Given the description of an element on the screen output the (x, y) to click on. 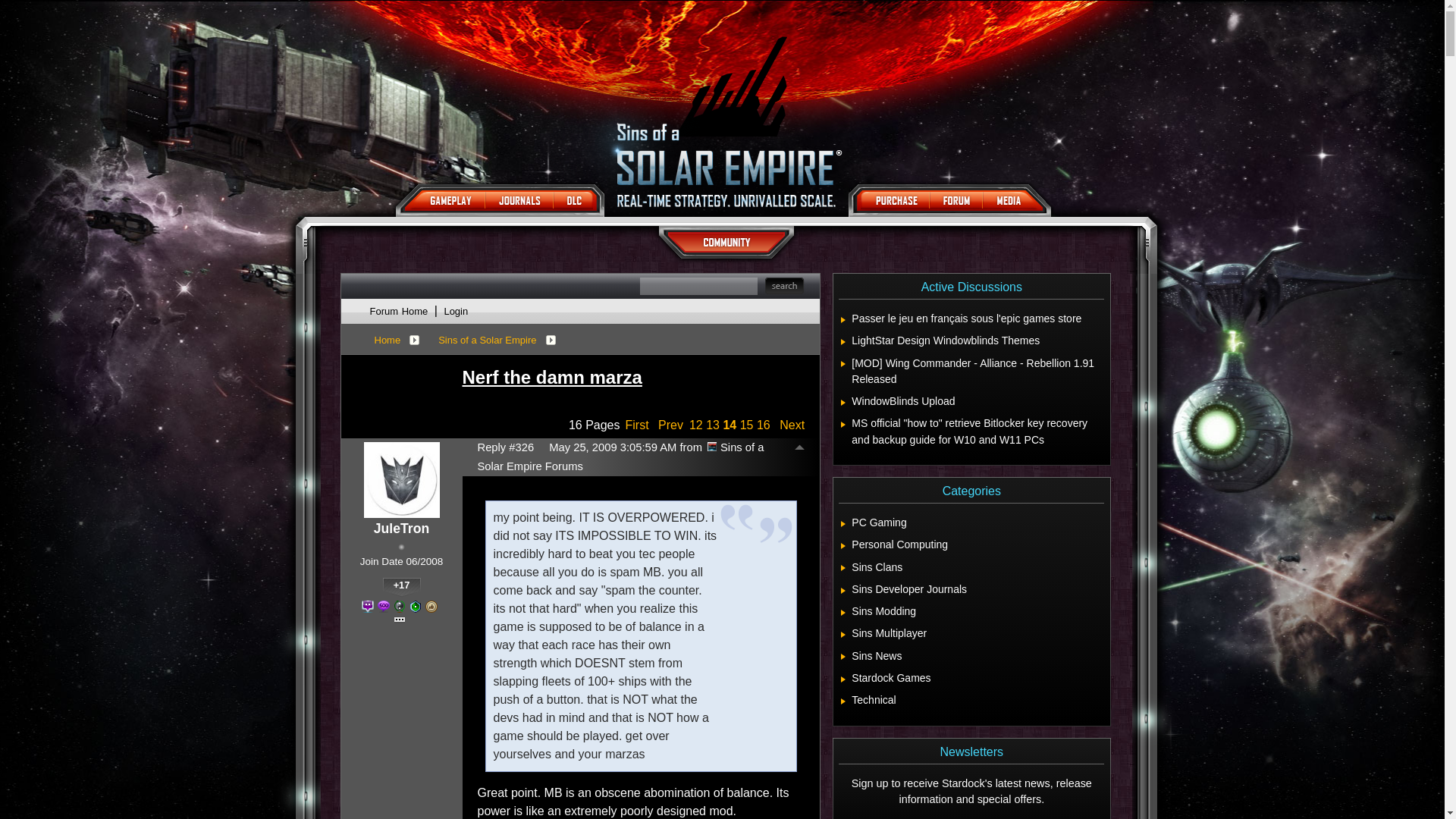
Sins of a Solar Empire (486, 339)
Login (455, 311)
First (635, 425)
Click to view original post (633, 377)
15 (746, 425)
Home (387, 339)
13 (712, 425)
Prev (670, 425)
Rank: 1 (400, 546)
Forum Home (398, 311)
